Given the description of an element on the screen output the (x, y) to click on. 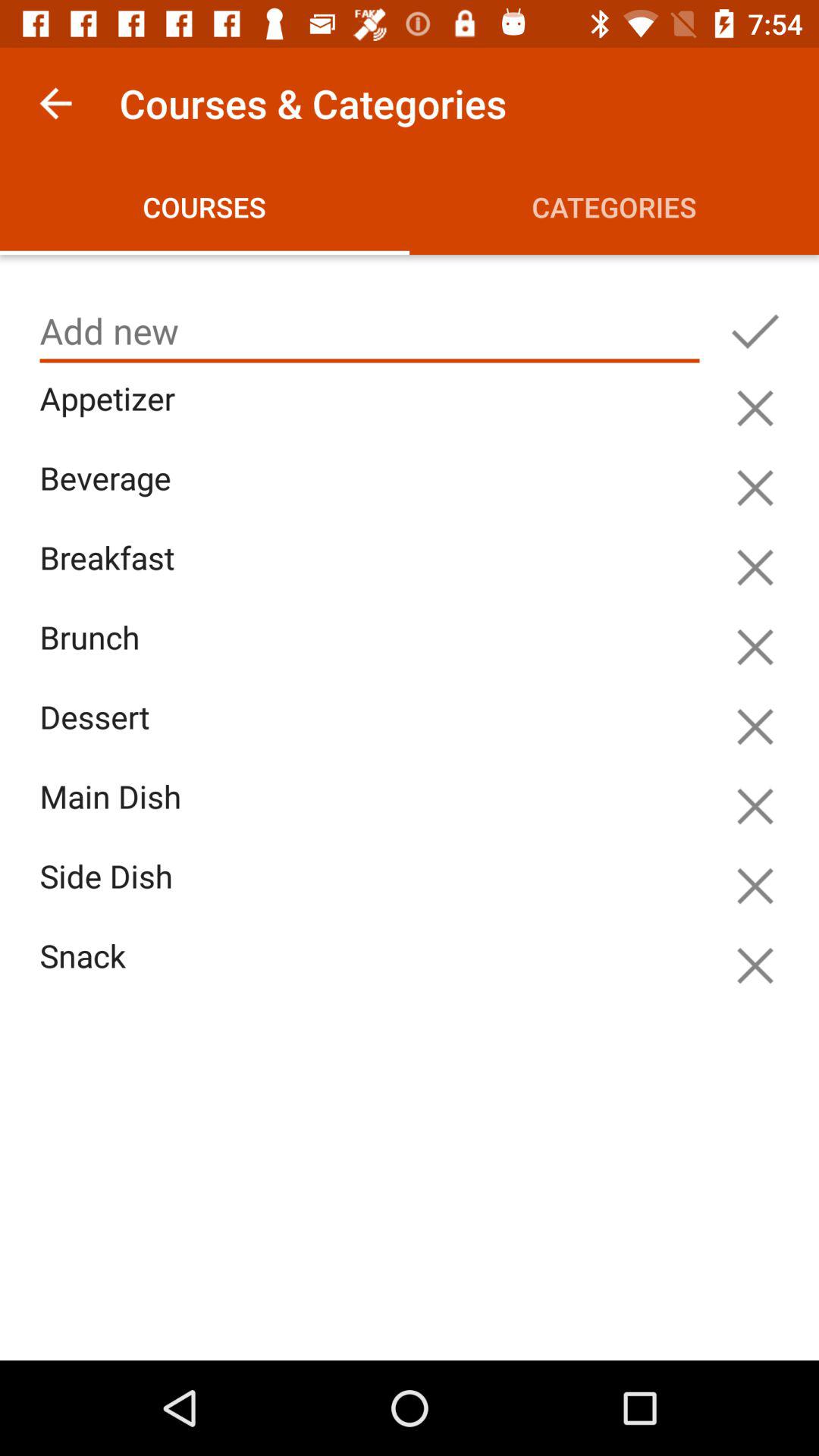
flip to beverage (373, 495)
